Given the description of an element on the screen output the (x, y) to click on. 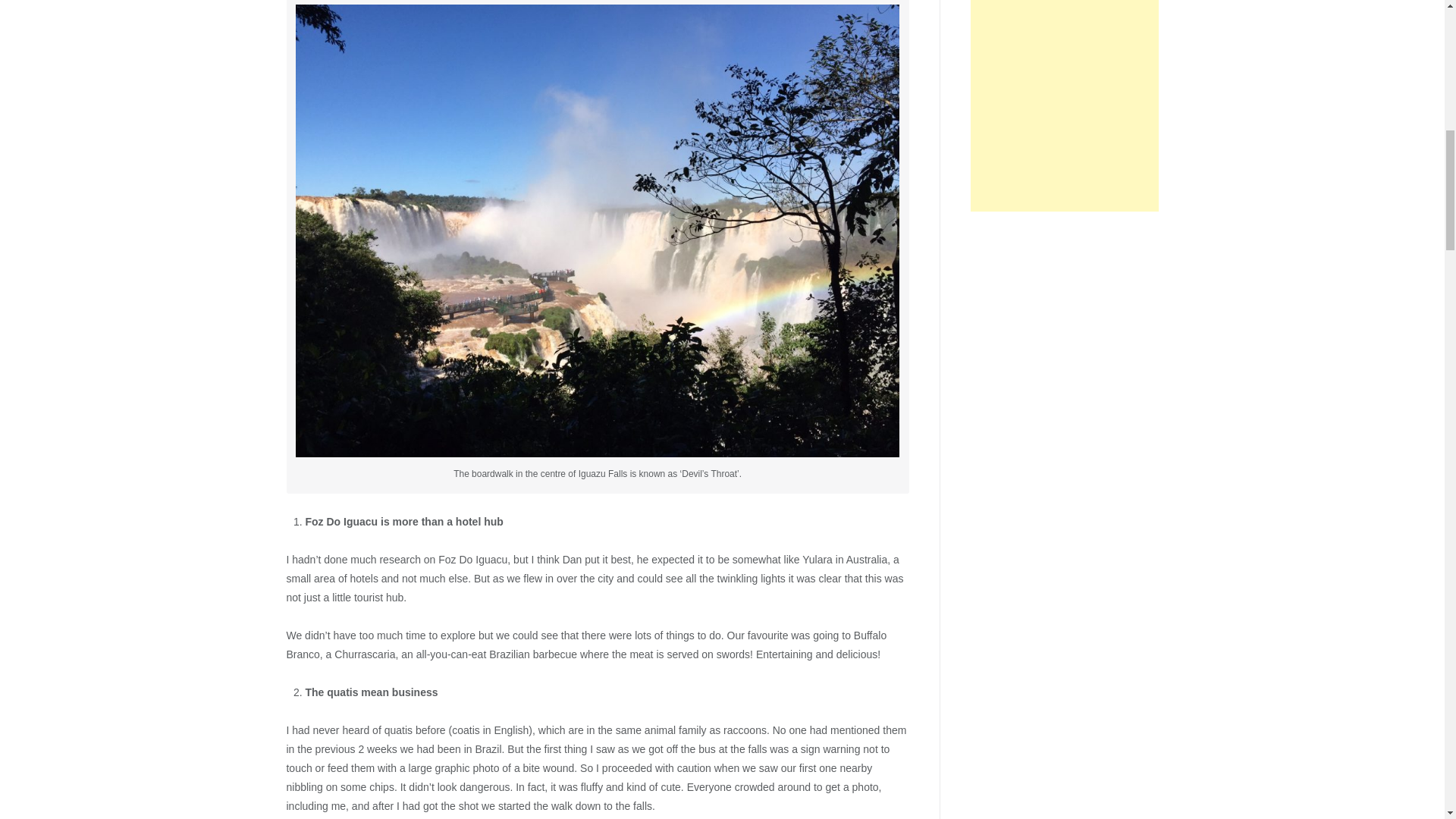
Advertisement (1064, 105)
